Given the description of an element on the screen output the (x, y) to click on. 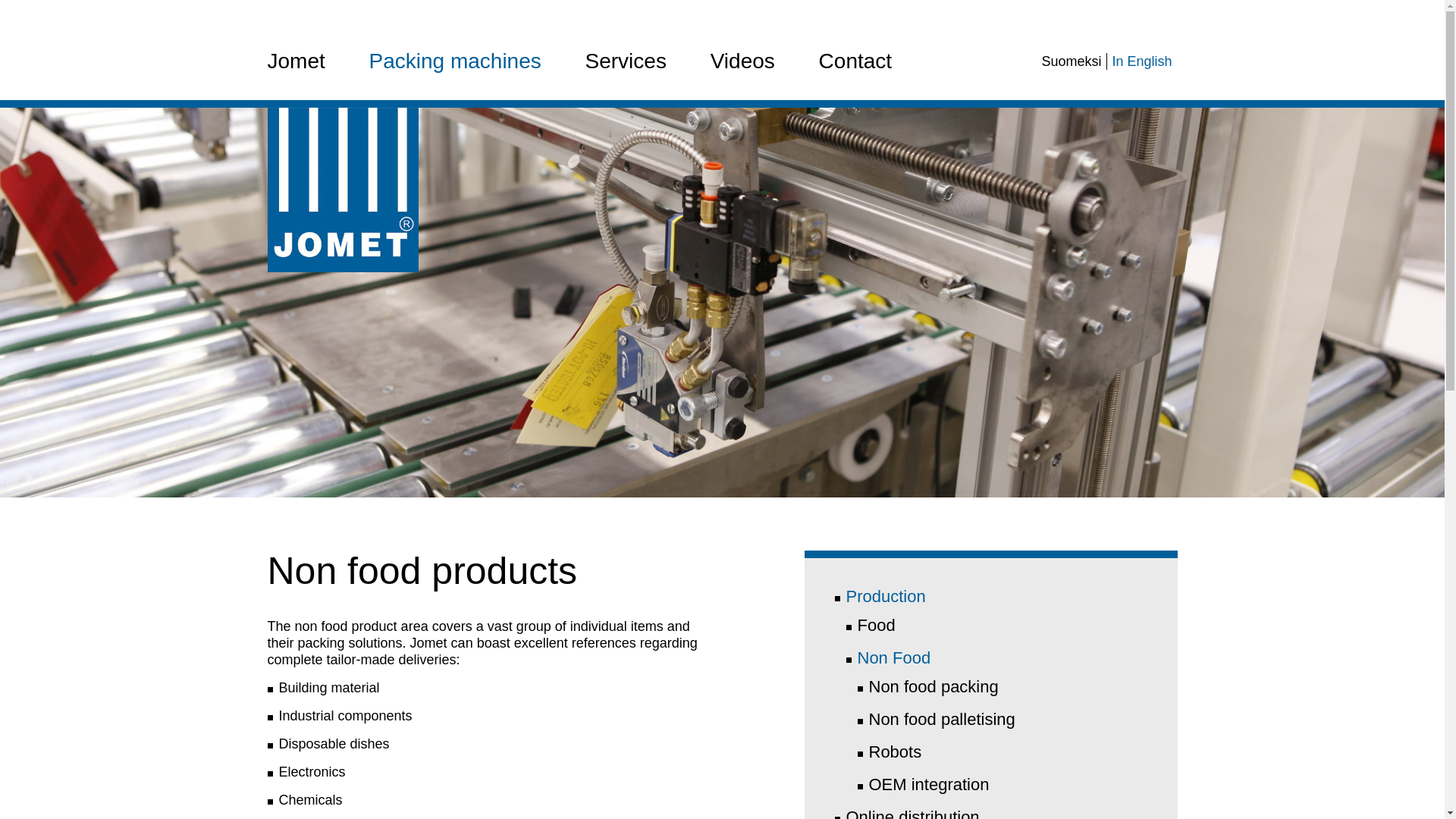
Robots (895, 751)
Jomet (295, 60)
Non food palletising (941, 719)
Non Food (893, 657)
Non food packing (933, 686)
In English (1142, 61)
Services (625, 60)
Contact (855, 60)
Suomeksi (1070, 61)
OEM integration (929, 783)
